Given the description of an element on the screen output the (x, y) to click on. 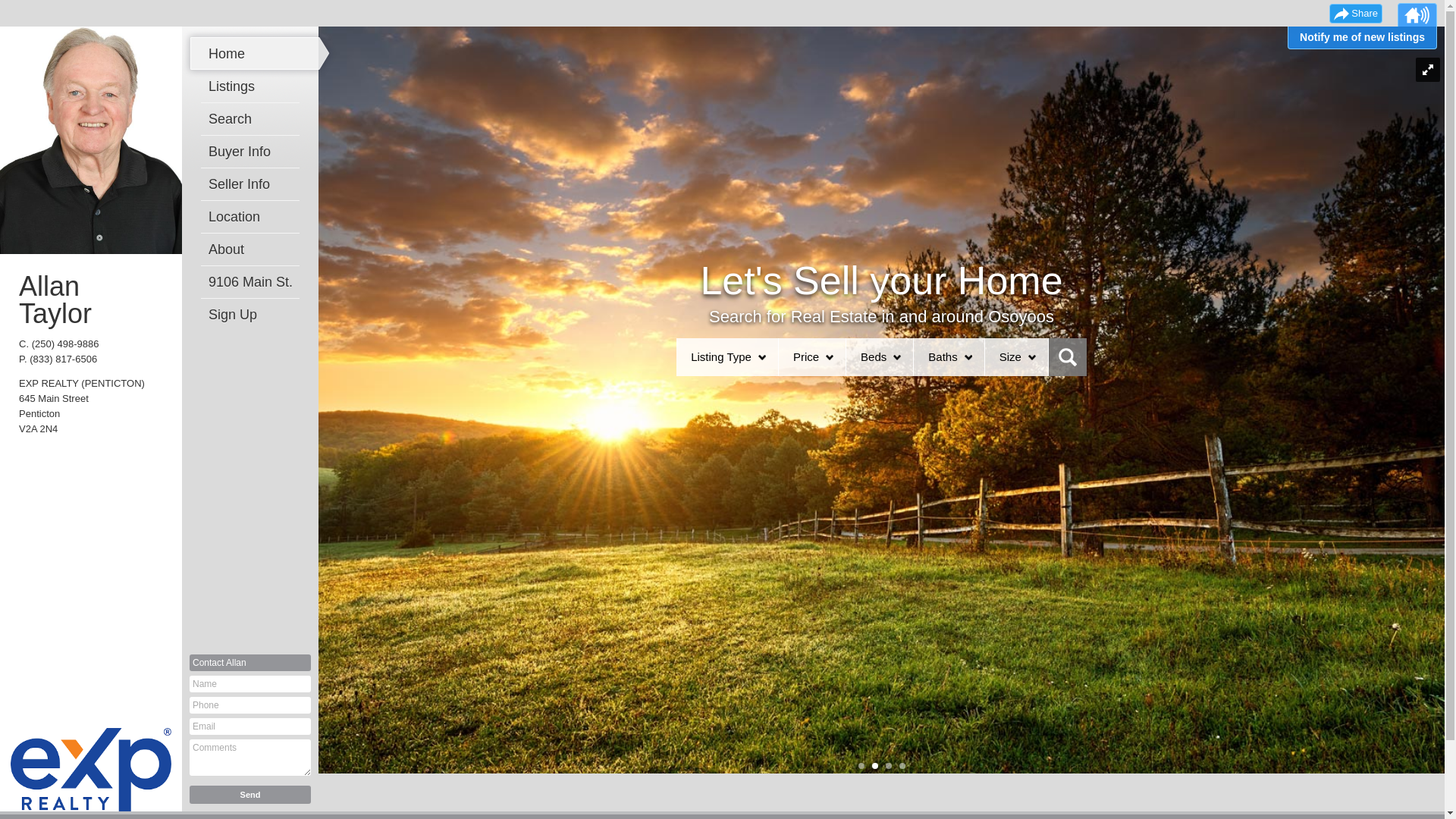
Search Element type: text (253, 118)
Listing Type Element type: text (720, 357)
Home Element type: text (253, 53)
Listings Element type: text (253, 86)
Seller Info Element type: text (253, 184)
Beds Element type: text (873, 357)
About Element type: text (253, 249)
Buyer Info Element type: text (253, 151)
9106 Main St. Element type: text (253, 282)
Price Element type: text (805, 357)
Sign Up Element type: text (253, 314)
Search for listings in Osoyoos Element type: hover (1067, 357)
Baths Element type: text (942, 357)
Location Element type: text (253, 216)
Size Element type: text (1010, 357)
Share Element type: text (1355, 13)
